Given the description of an element on the screen output the (x, y) to click on. 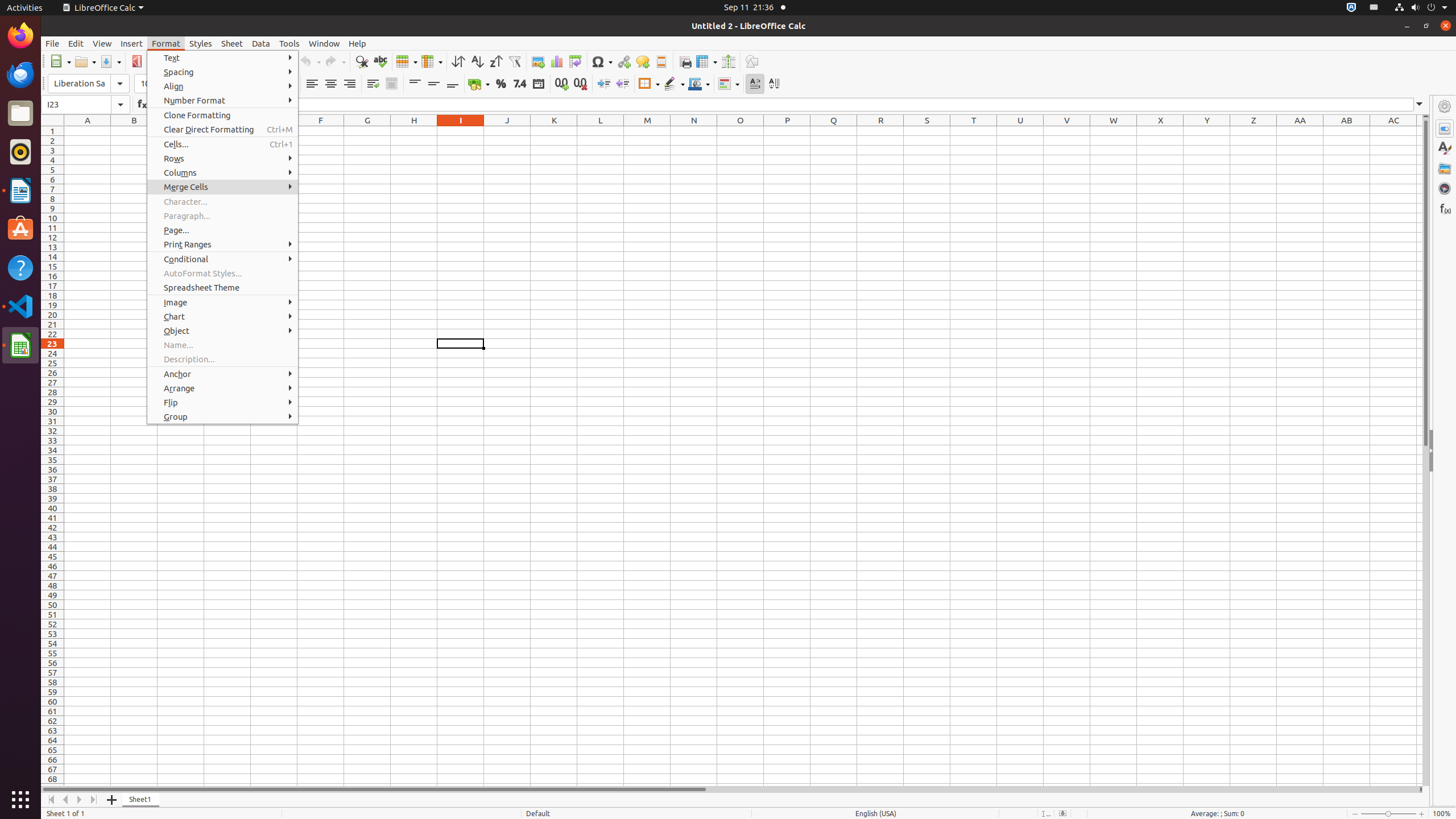
Move Left Element type: push-button (65, 799)
Font Name Element type: text (78, 83)
Spacing Element type: menu (222, 71)
Name Box Element type: text (75, 104)
